Given the description of an element on the screen output the (x, y) to click on. 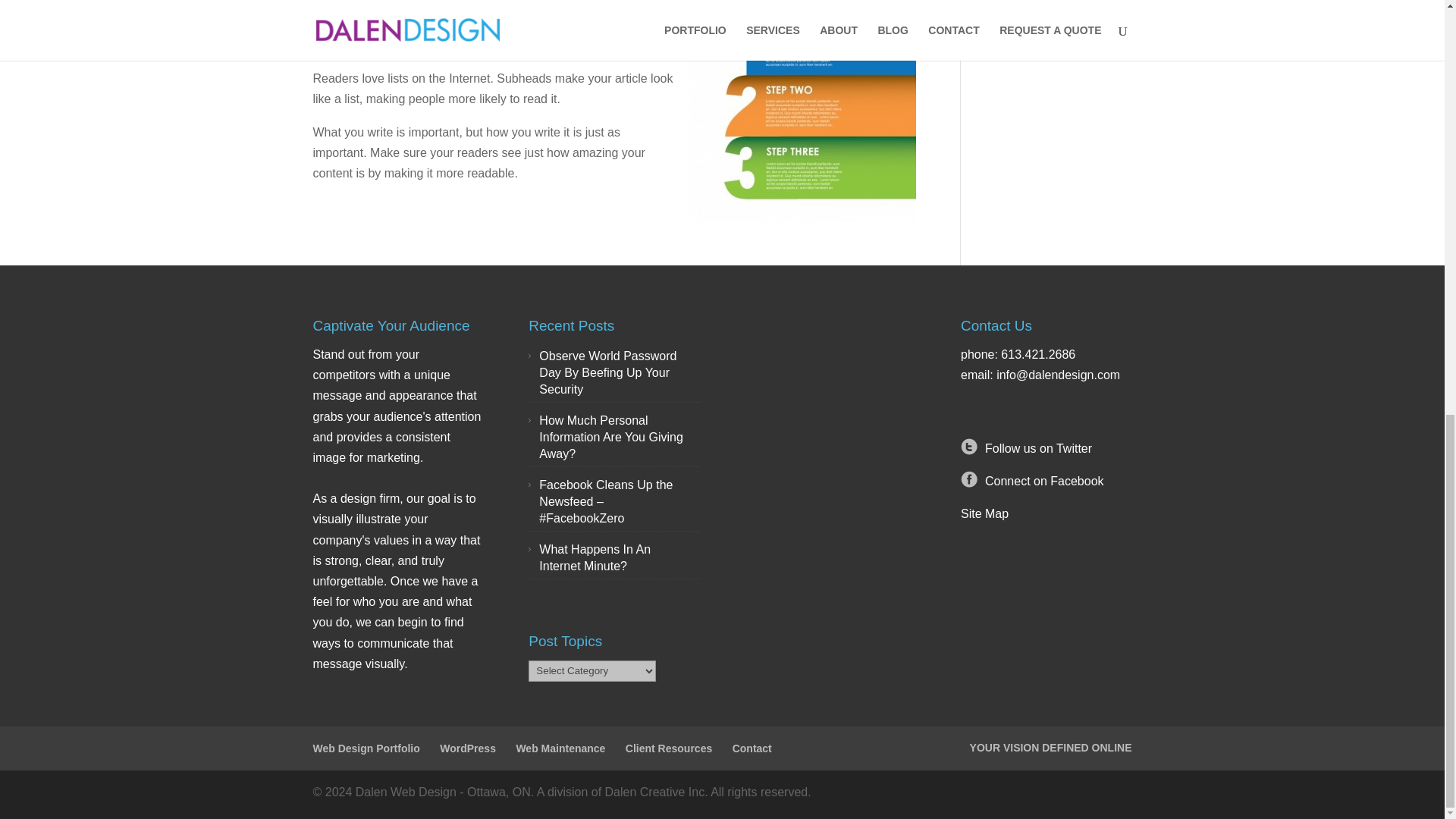
socialize2 (968, 475)
dalen design on facebook (1044, 480)
dalen design on tweeter (1038, 448)
socialize1 (968, 442)
